Given the description of an element on the screen output the (x, y) to click on. 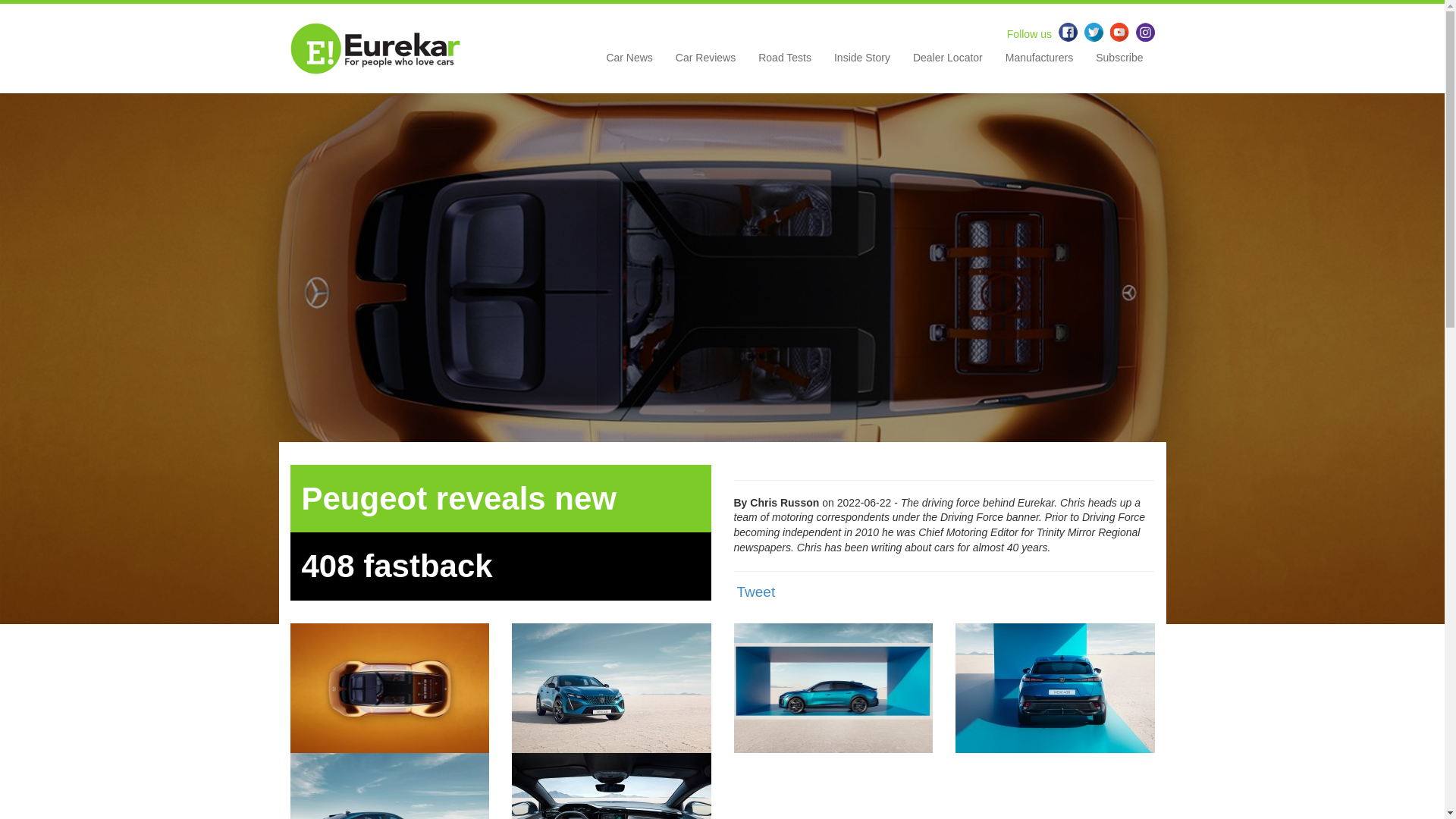
Subscribe (1119, 62)
Peugeot 408, 2022, interior (611, 814)
Peugeot 408, 2022, tail (1054, 687)
Manufacturers (1039, 62)
Peugeot 408, 2022, rear (389, 814)
Road Tests (784, 62)
Dealer Locator (947, 62)
Peugeot 408, 2022, side (833, 687)
Car News (628, 62)
Tweet (756, 591)
Car Reviews (704, 62)
Peugeot 408, 2022, front (611, 687)
Inside Story (861, 62)
Peugeot 408, 2022, overhead (389, 687)
